Given the description of an element on the screen output the (x, y) to click on. 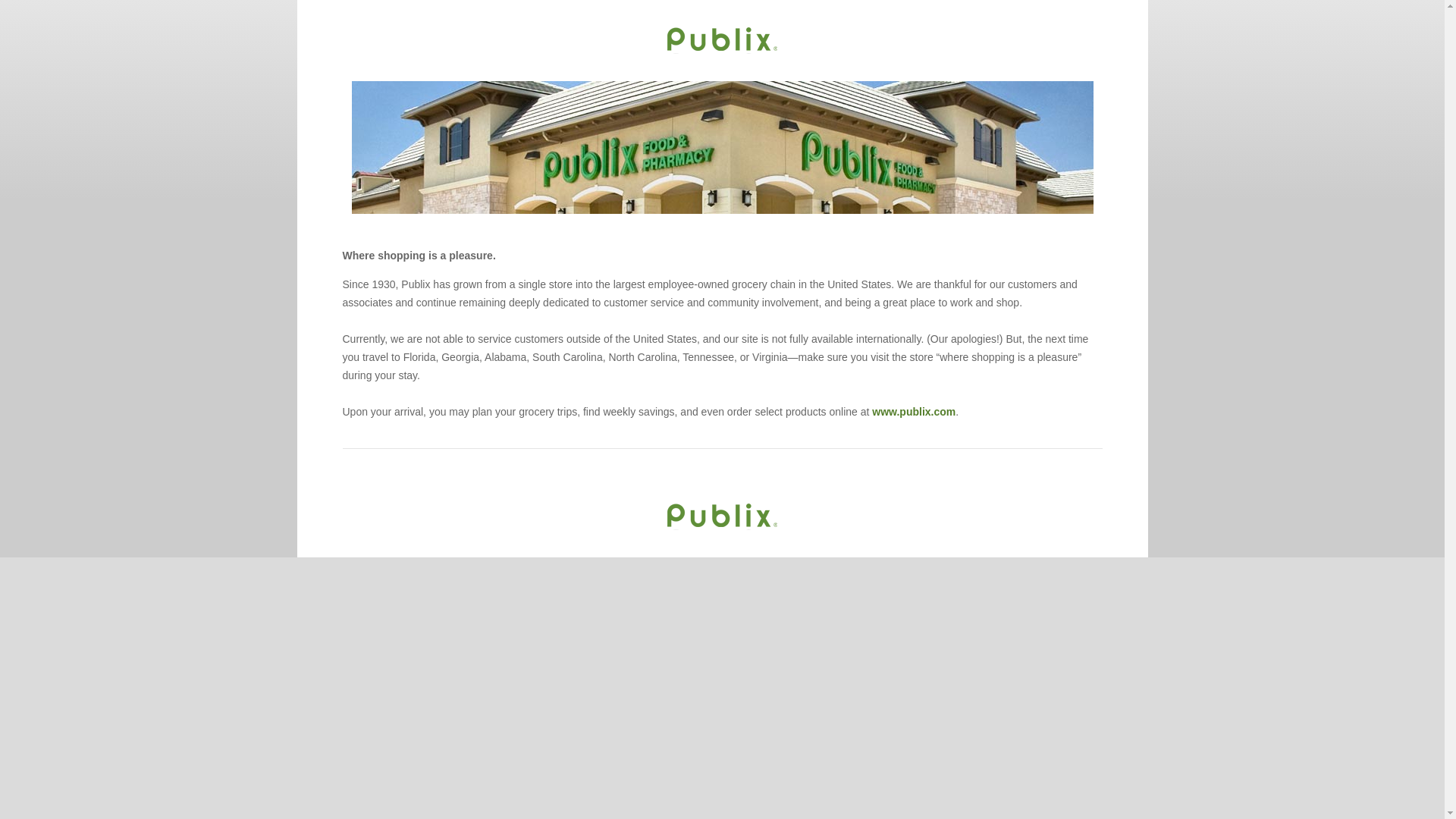
www.publix.com (913, 411)
